Given the description of an element on the screen output the (x, y) to click on. 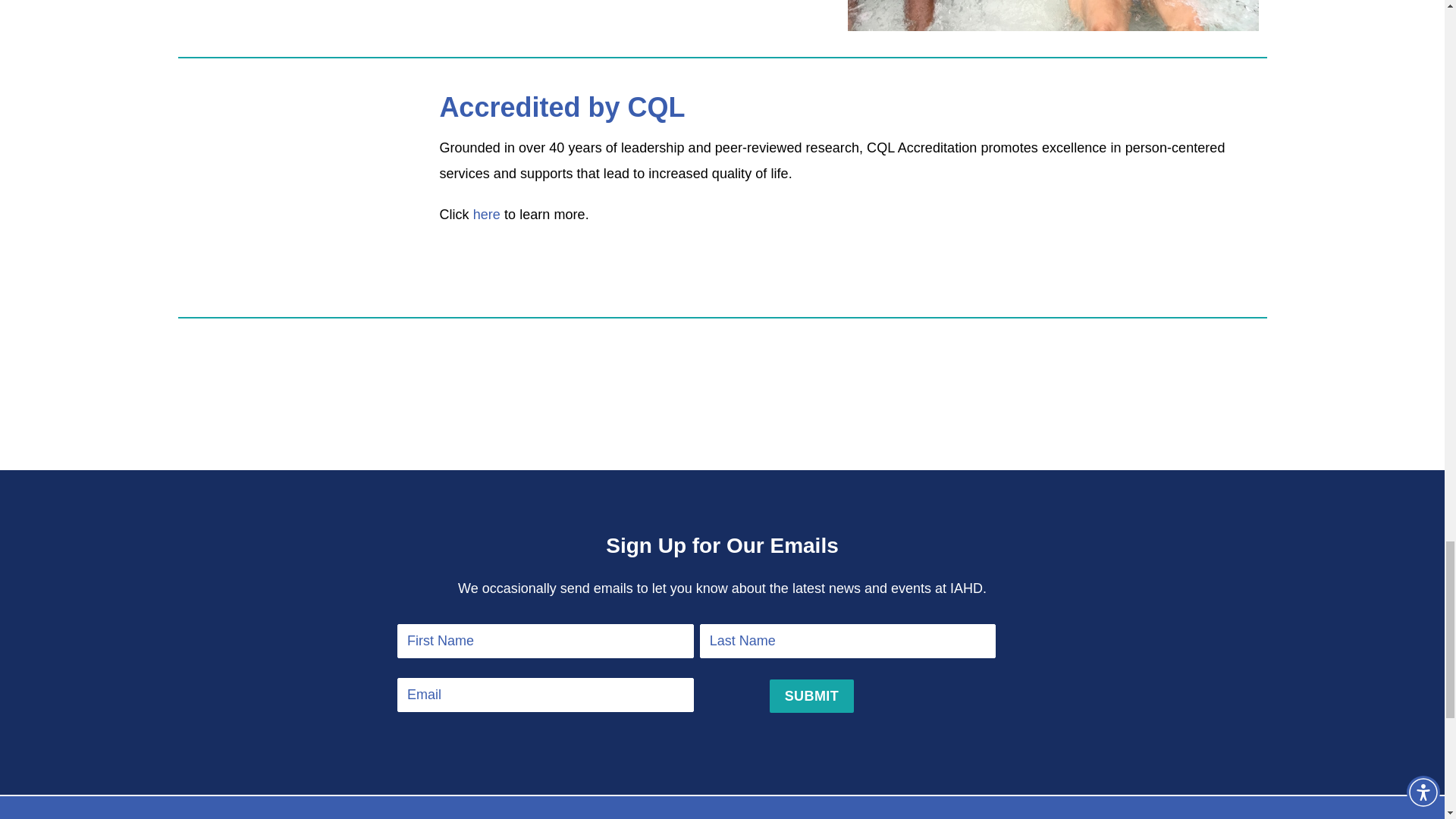
Submit (811, 695)
